Given the description of an element on the screen output the (x, y) to click on. 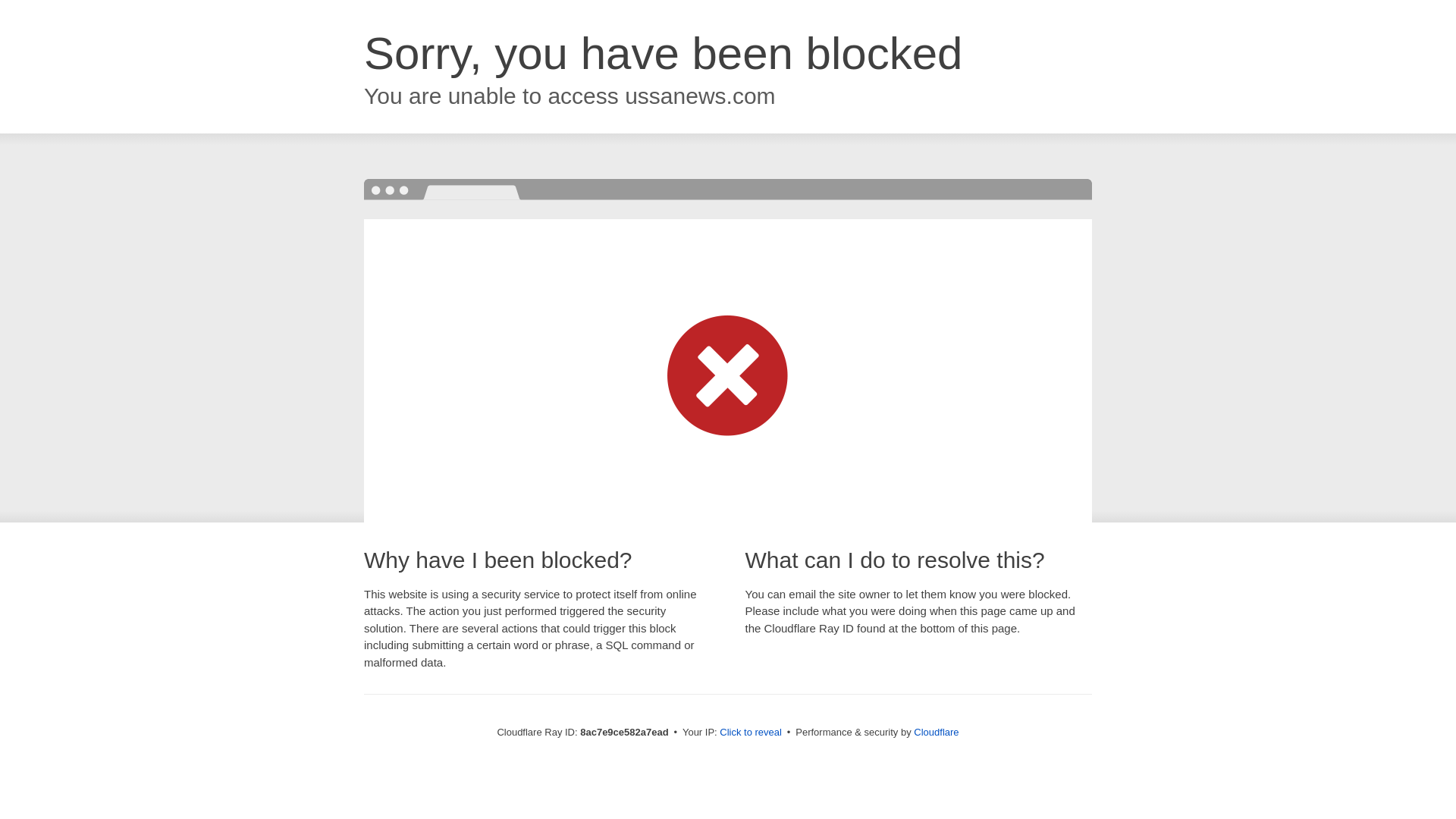
Cloudflare (936, 731)
Click to reveal (750, 732)
